Given the description of an element on the screen output the (x, y) to click on. 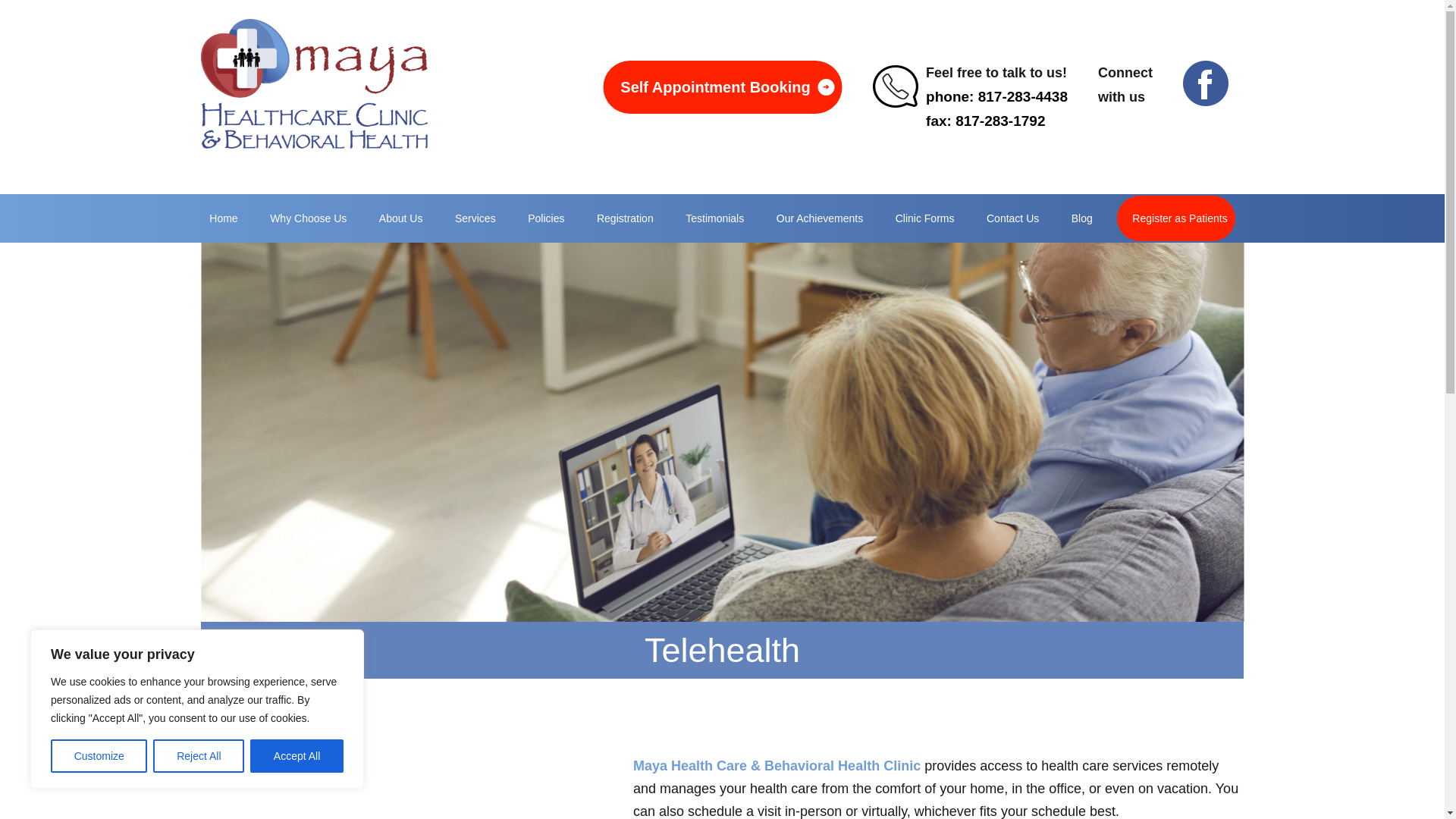
Our Achievements (819, 217)
Registration (625, 217)
Accept All (296, 756)
Customize (98, 756)
Policies (545, 217)
Self Appointment Booking (721, 86)
About Us (400, 217)
Clinic Forms (925, 217)
Testimonials (714, 217)
Why Choose Us (307, 217)
